Given the description of an element on the screen output the (x, y) to click on. 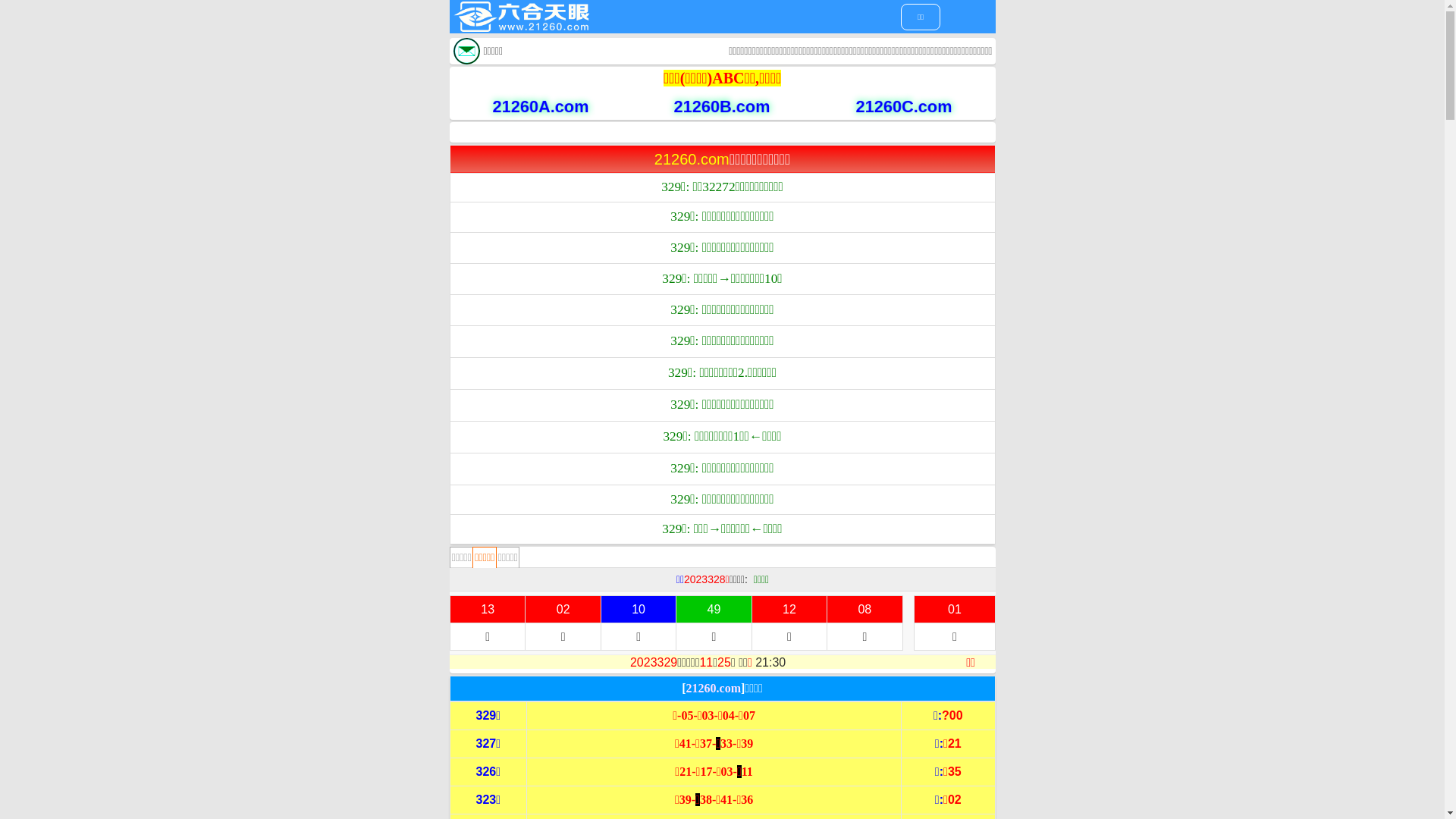
21260C.com Element type: text (886, 105)
21260B.com Element type: text (705, 105)
21260A.com Element type: text (523, 105)
